Given the description of an element on the screen output the (x, y) to click on. 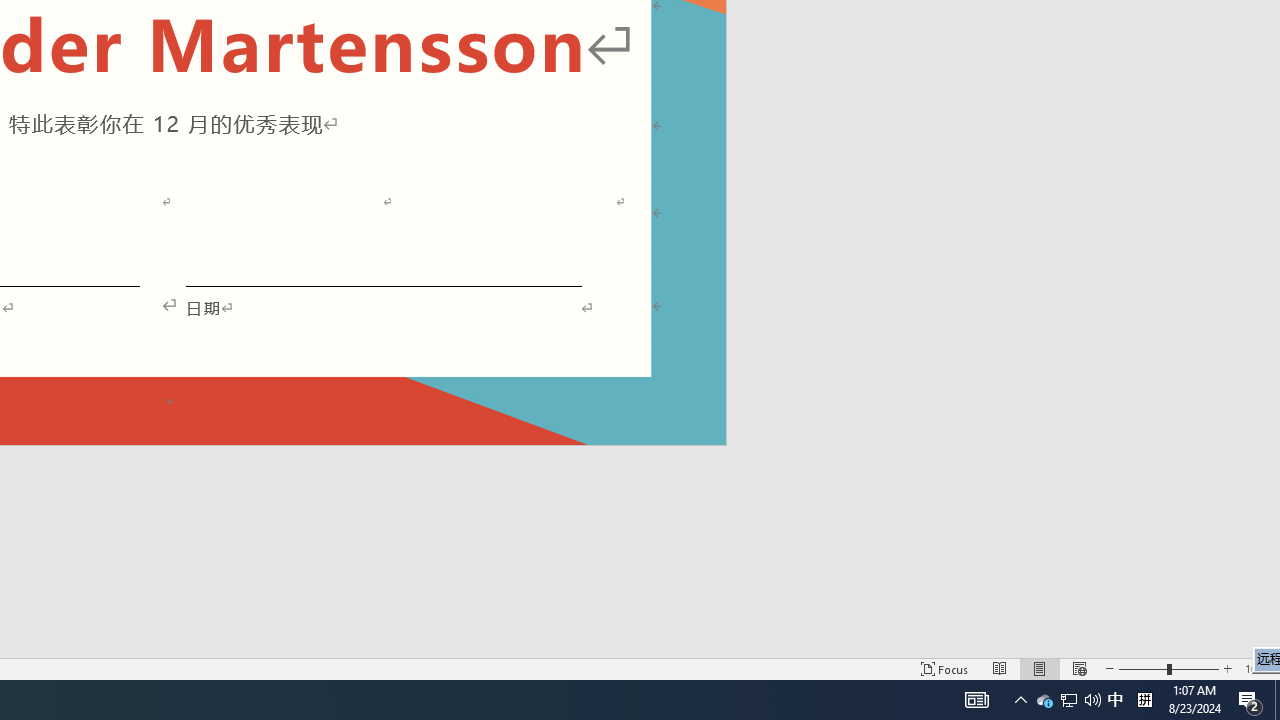
Zoom 100% (1258, 668)
